Given the description of an element on the screen output the (x, y) to click on. 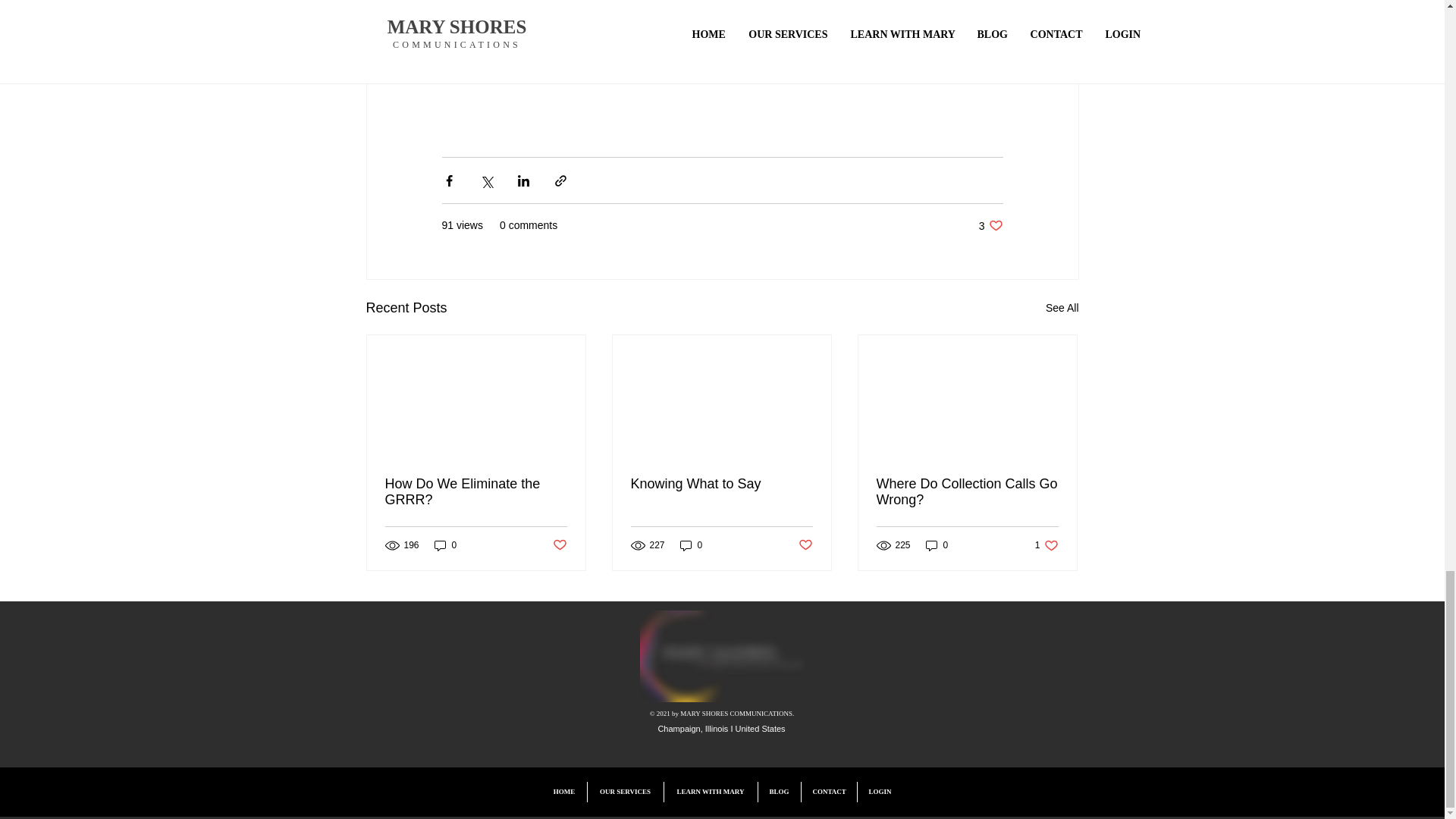
Knowing What to Say (721, 483)
How Do We Eliminate the GRRR? (476, 491)
0 (691, 545)
Post not marked as liked (990, 225)
Post not marked as liked (804, 545)
0 (558, 545)
See All (445, 545)
